Given the description of an element on the screen output the (x, y) to click on. 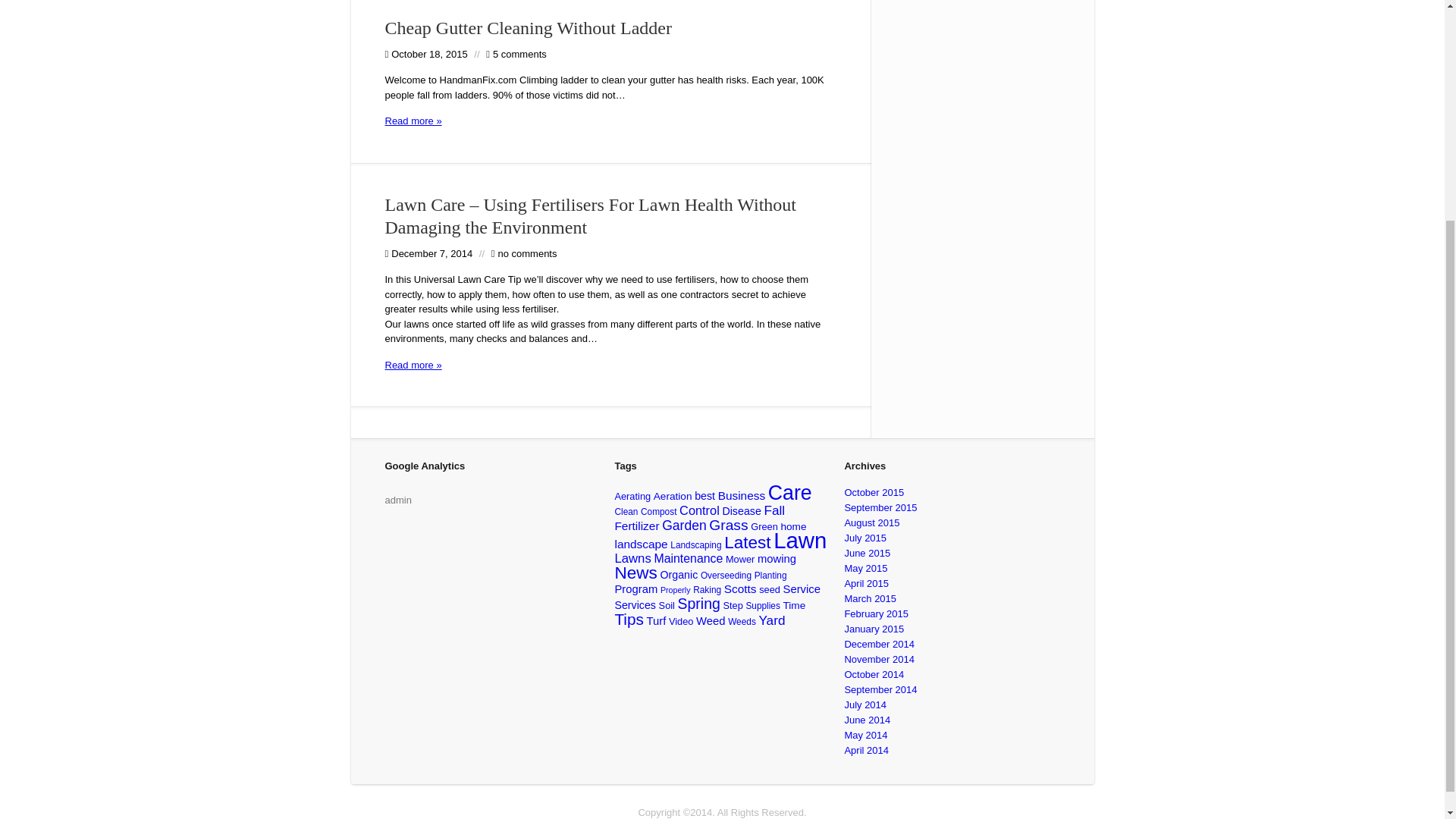
7 topics (741, 510)
4 topics (658, 511)
9 topics (636, 525)
89 topics (790, 492)
4 topics (625, 511)
9 topics (640, 543)
39 topics (746, 542)
147 topics (800, 539)
5 topics (764, 526)
13 topics (773, 509)
14 topics (684, 525)
5 topics (632, 496)
11 topics (699, 509)
4 topics (694, 544)
6 topics (673, 496)
